Given the description of an element on the screen output the (x, y) to click on. 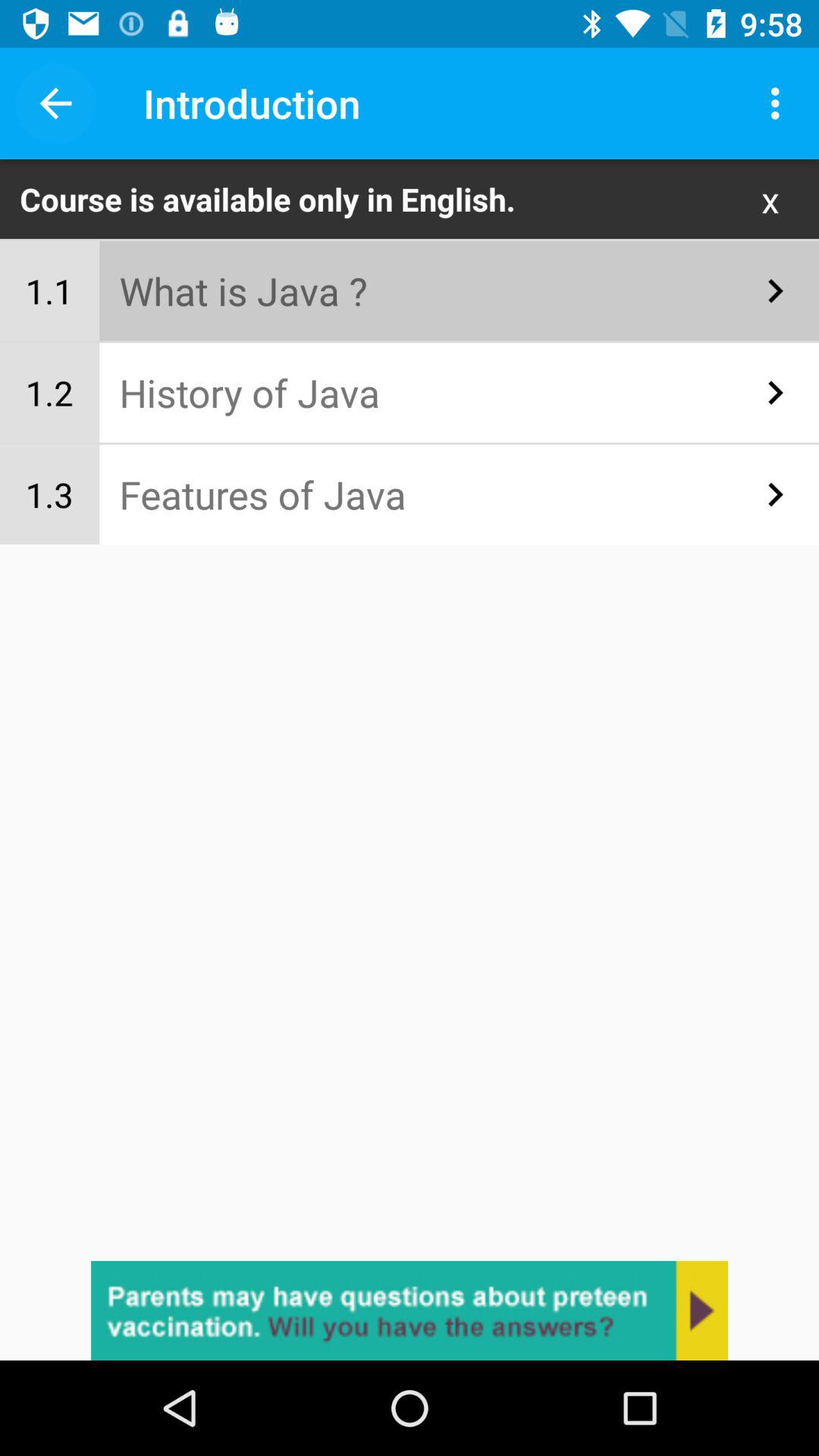
make advertisement (409, 1310)
